Given the description of an element on the screen output the (x, y) to click on. 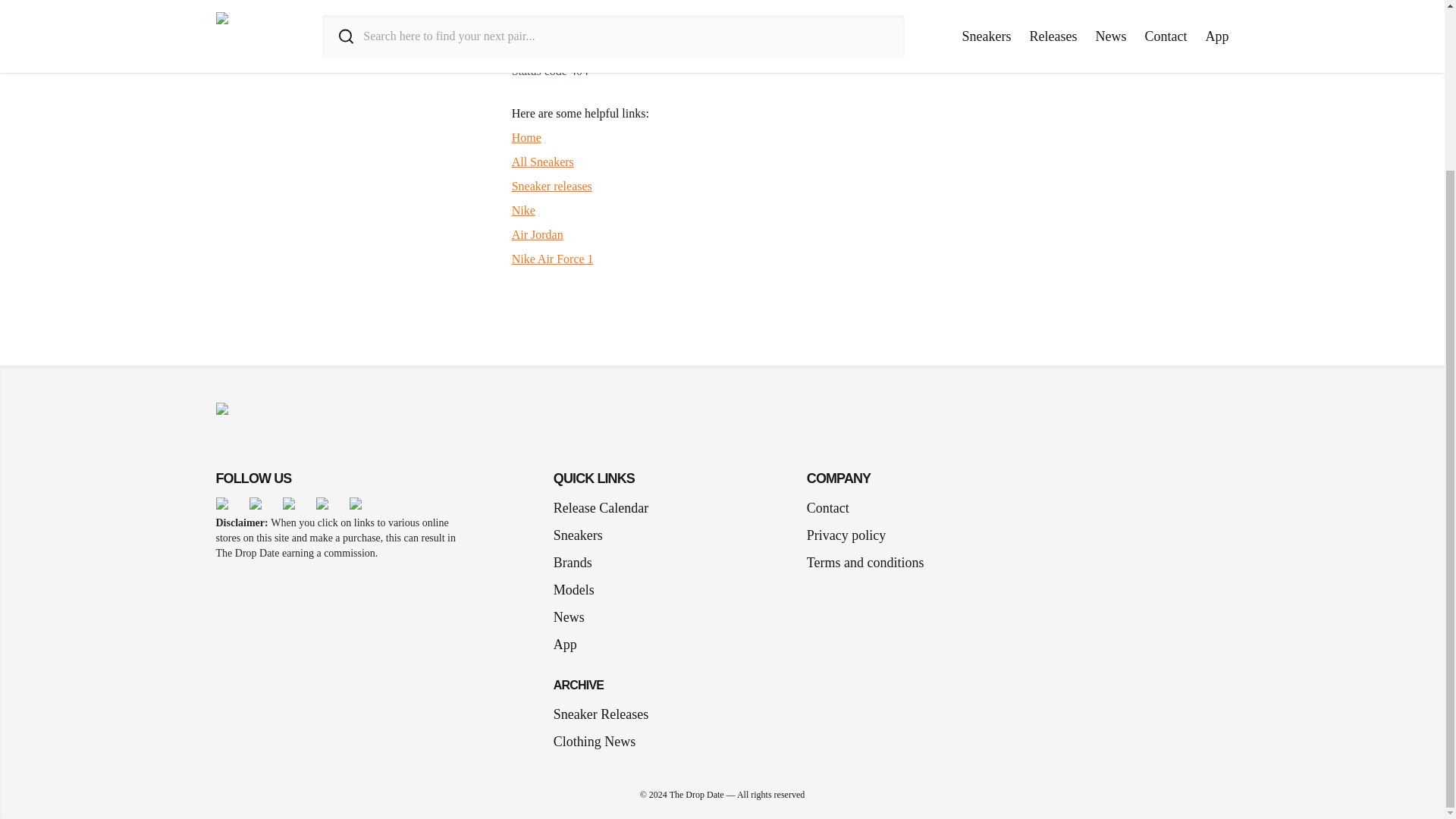
Nike Air Force 1 (553, 258)
Brands (578, 562)
Home (526, 137)
News (574, 617)
Clothing News (594, 741)
Terms and conditions (865, 562)
Sneakers (583, 535)
Sneaker Releases (600, 713)
Release Calendar (600, 507)
Privacy policy (845, 535)
Contact (827, 507)
Air Jordan (537, 234)
Sneaker releases (552, 185)
Nike (523, 210)
All Sneakers (542, 161)
